Given the description of an element on the screen output the (x, y) to click on. 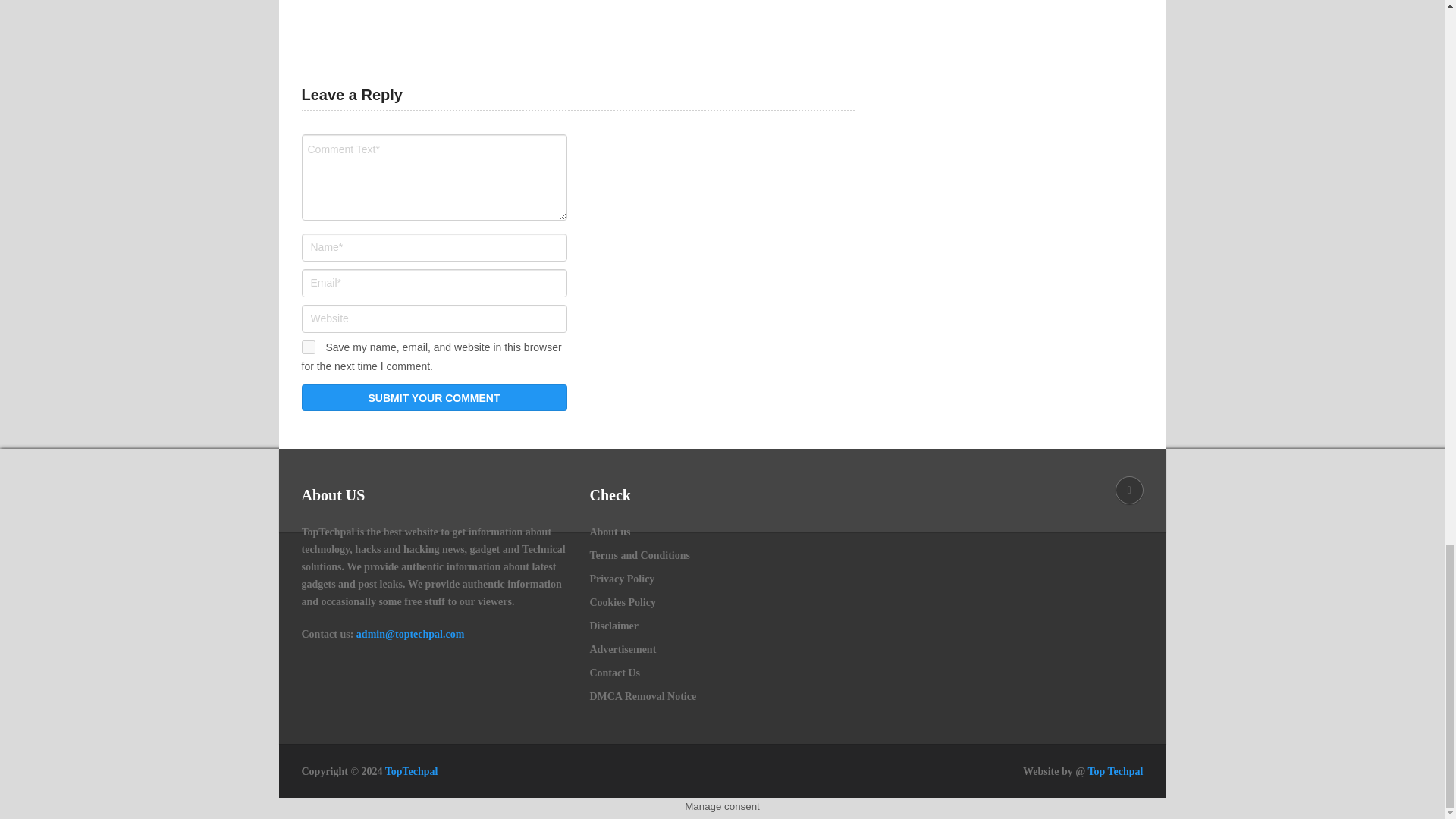
Submit Your Comment (434, 397)
Submit Your Comment (434, 397)
yes (308, 346)
